Given the description of an element on the screen output the (x, y) to click on. 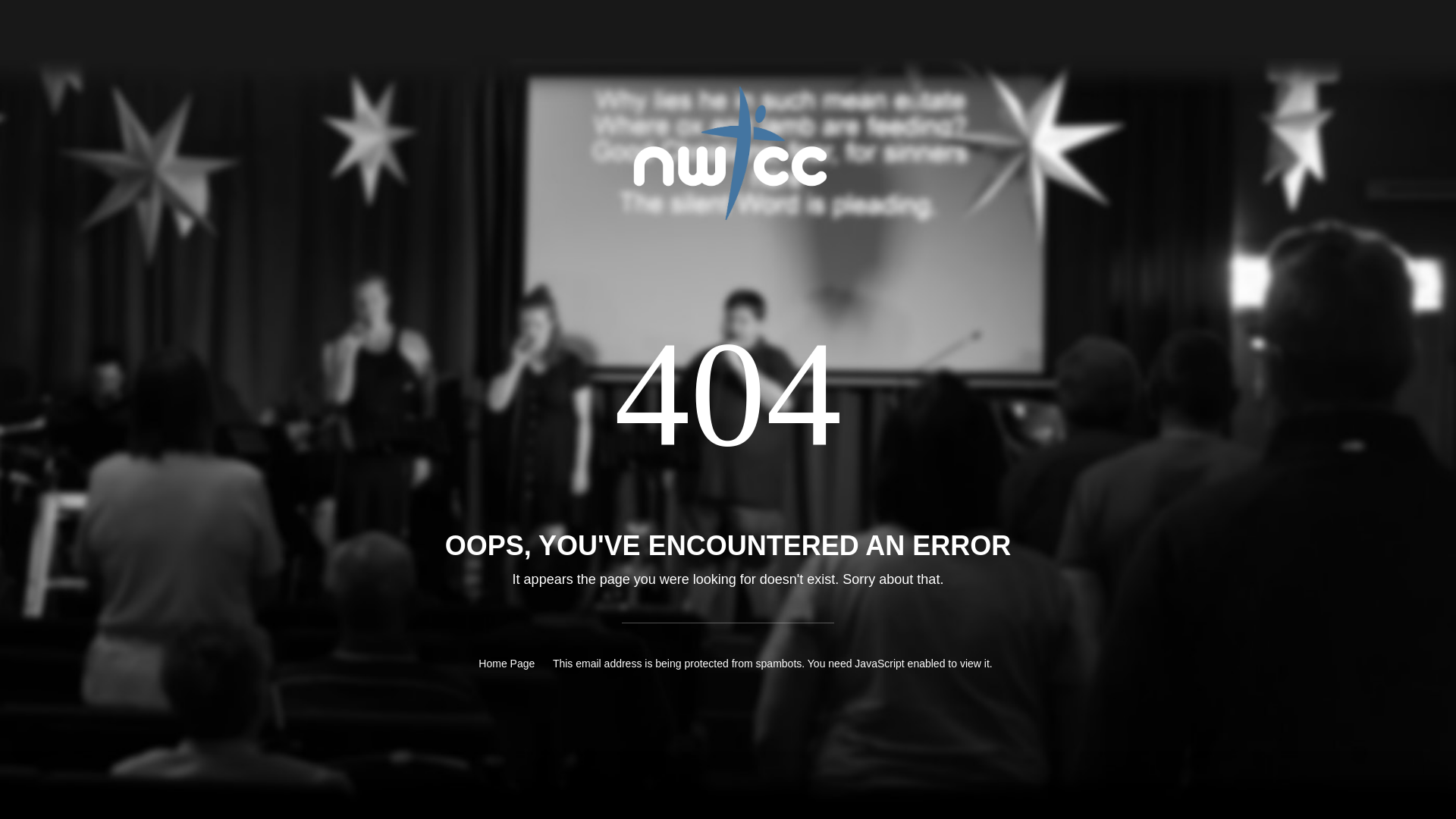
Home Page Element type: text (506, 663)
